Given the description of an element on the screen output the (x, y) to click on. 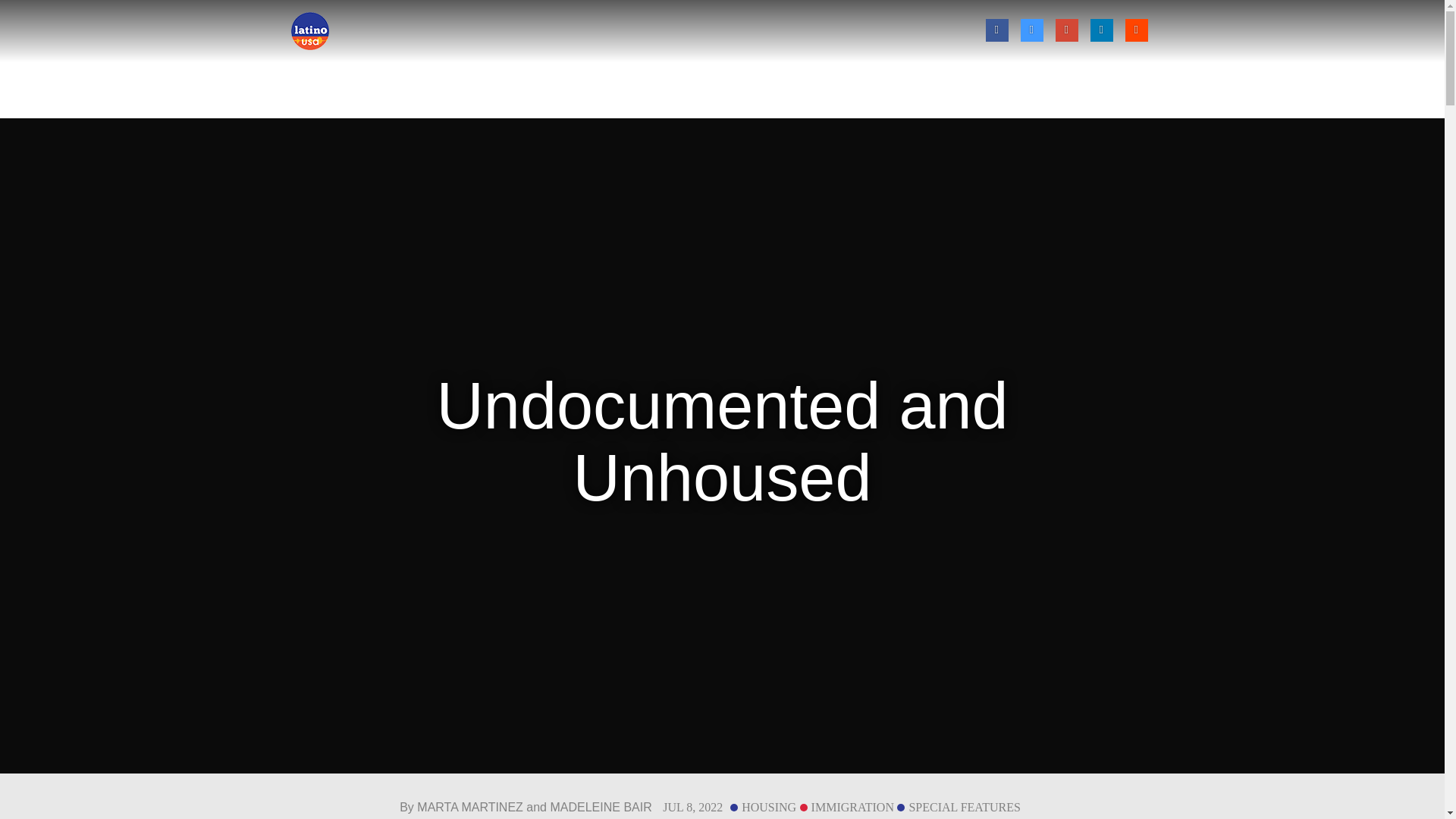
HOUSING (763, 807)
MADELEINE BAIR (600, 807)
MARTA MARTINEZ (469, 807)
SPECIAL FEATURES (958, 807)
IMMIGRATION (846, 807)
